Given the description of an element on the screen output the (x, y) to click on. 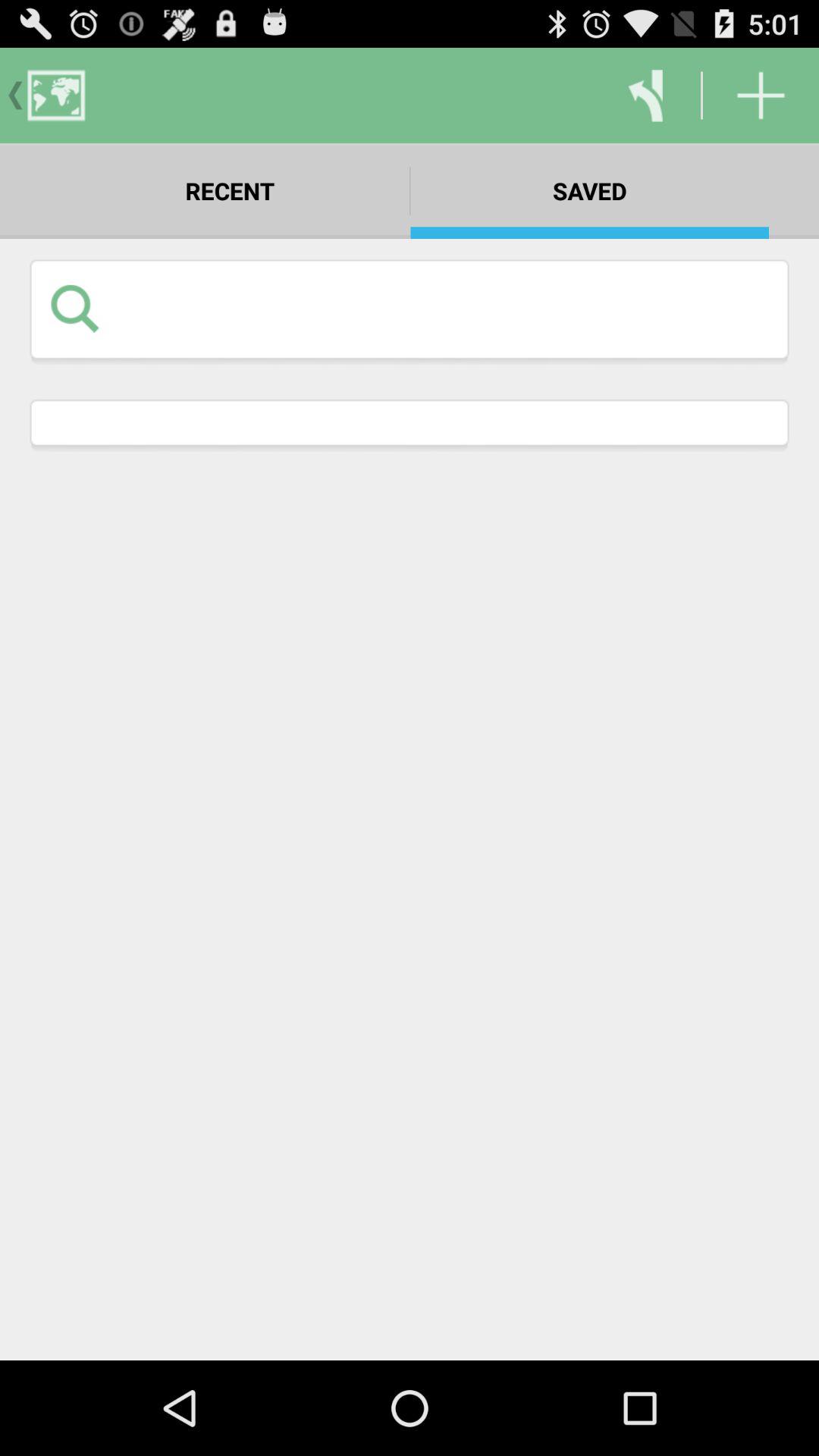
search the name (442, 308)
